Given the description of an element on the screen output the (x, y) to click on. 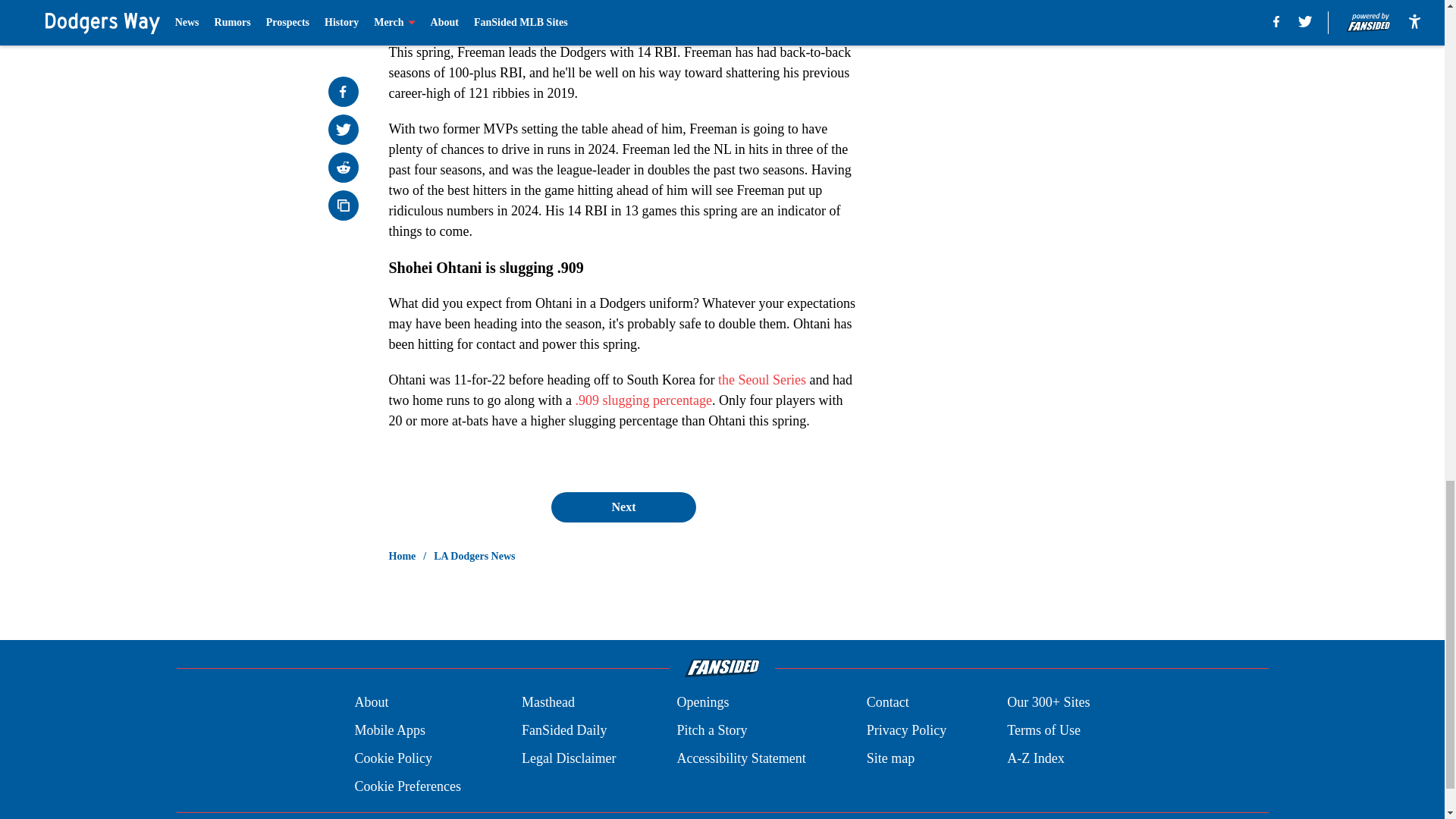
.909 slugging percentage (643, 400)
Masthead (548, 702)
About (370, 702)
Terms of Use (1043, 730)
Openings (703, 702)
Mobile Apps (389, 730)
Pitch a Story (711, 730)
the Seoul Series (761, 379)
Home (401, 556)
LA Dodgers News (474, 556)
Contact (887, 702)
Next (622, 507)
Freeman will now be batting third for the Dodgers (661, 2)
FanSided Daily (564, 730)
Privacy Policy (906, 730)
